Given the description of an element on the screen output the (x, y) to click on. 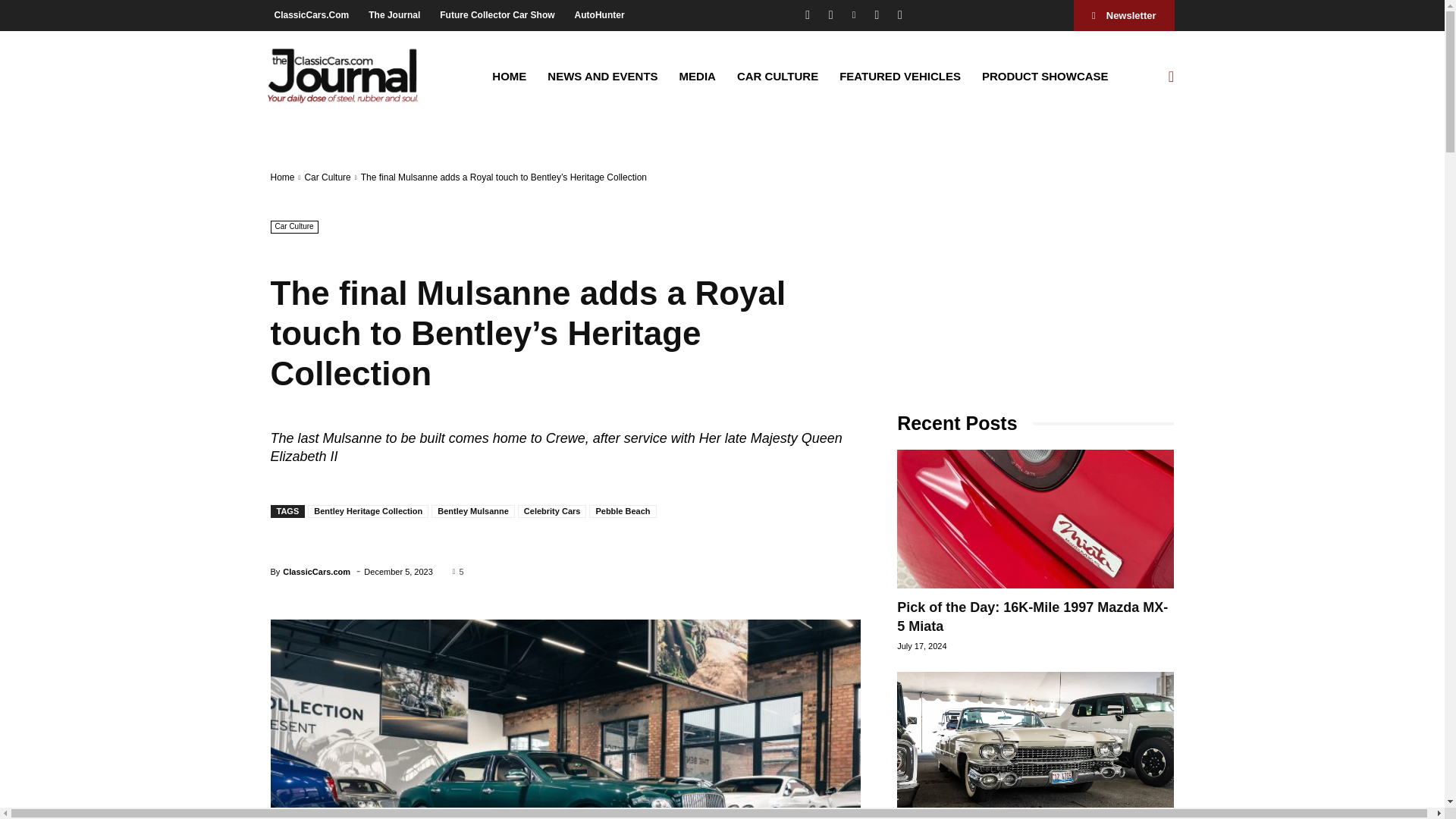
Home (281, 176)
ClassicCars.Com (310, 13)
Car Culture (327, 176)
AutoHunter (599, 13)
Pinterest (853, 15)
Bentley Mulsanne (472, 511)
Instagram (829, 15)
View all posts in Car Culture (327, 176)
Newsletter (1124, 15)
Youtube (899, 15)
CAR CULTURE (777, 76)
MEDIA (697, 76)
The Journal (394, 13)
TheLastMulsanne-1 (564, 719)
PRODUCT SHOWCASE (1045, 76)
